Given the description of an element on the screen output the (x, y) to click on. 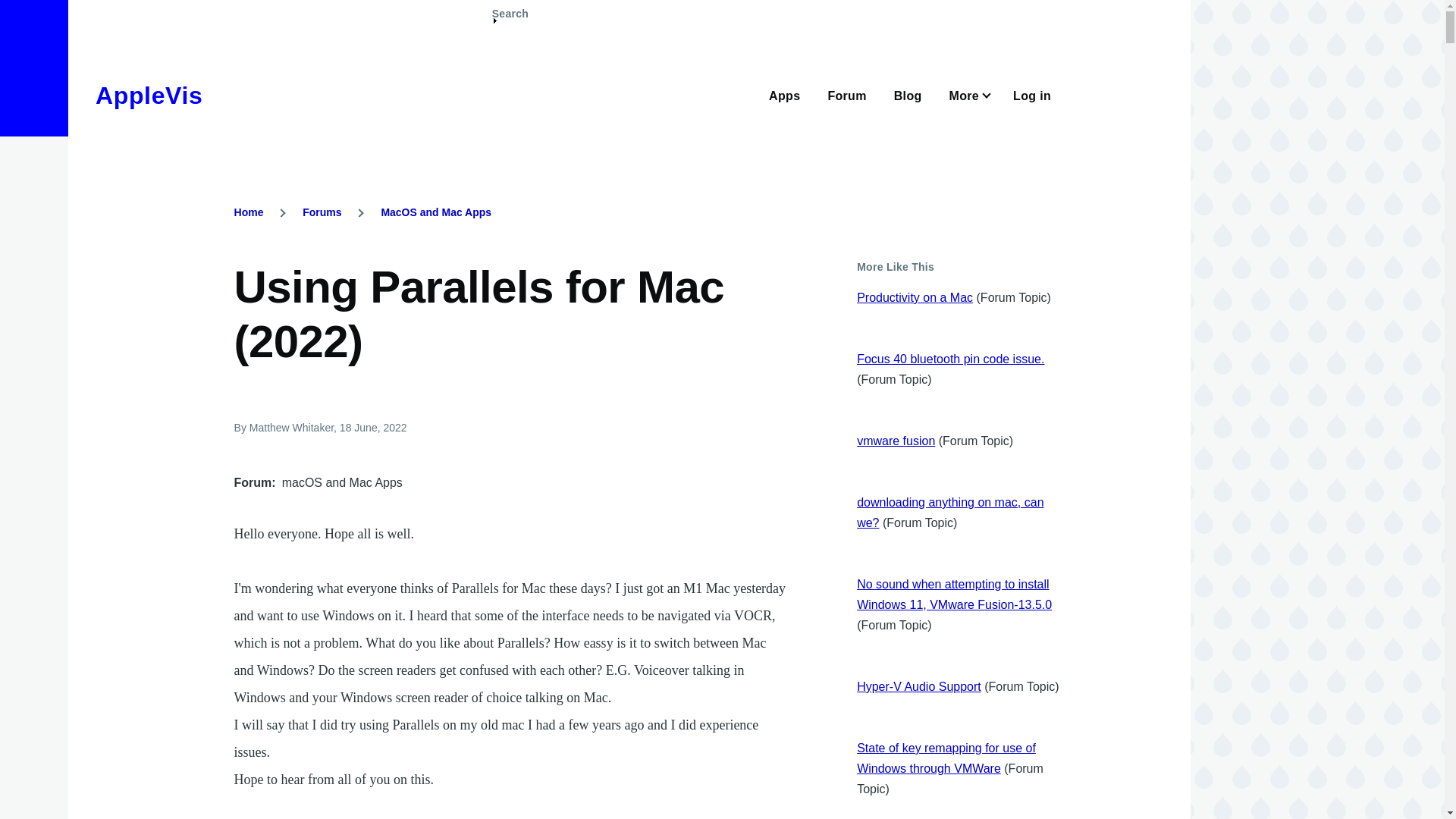
Search (510, 20)
Forums (321, 212)
Home (149, 94)
Home (248, 212)
Skip to main content (595, 6)
AppleVis (149, 94)
MacOS and Mac Apps (436, 212)
